Given the description of an element on the screen output the (x, y) to click on. 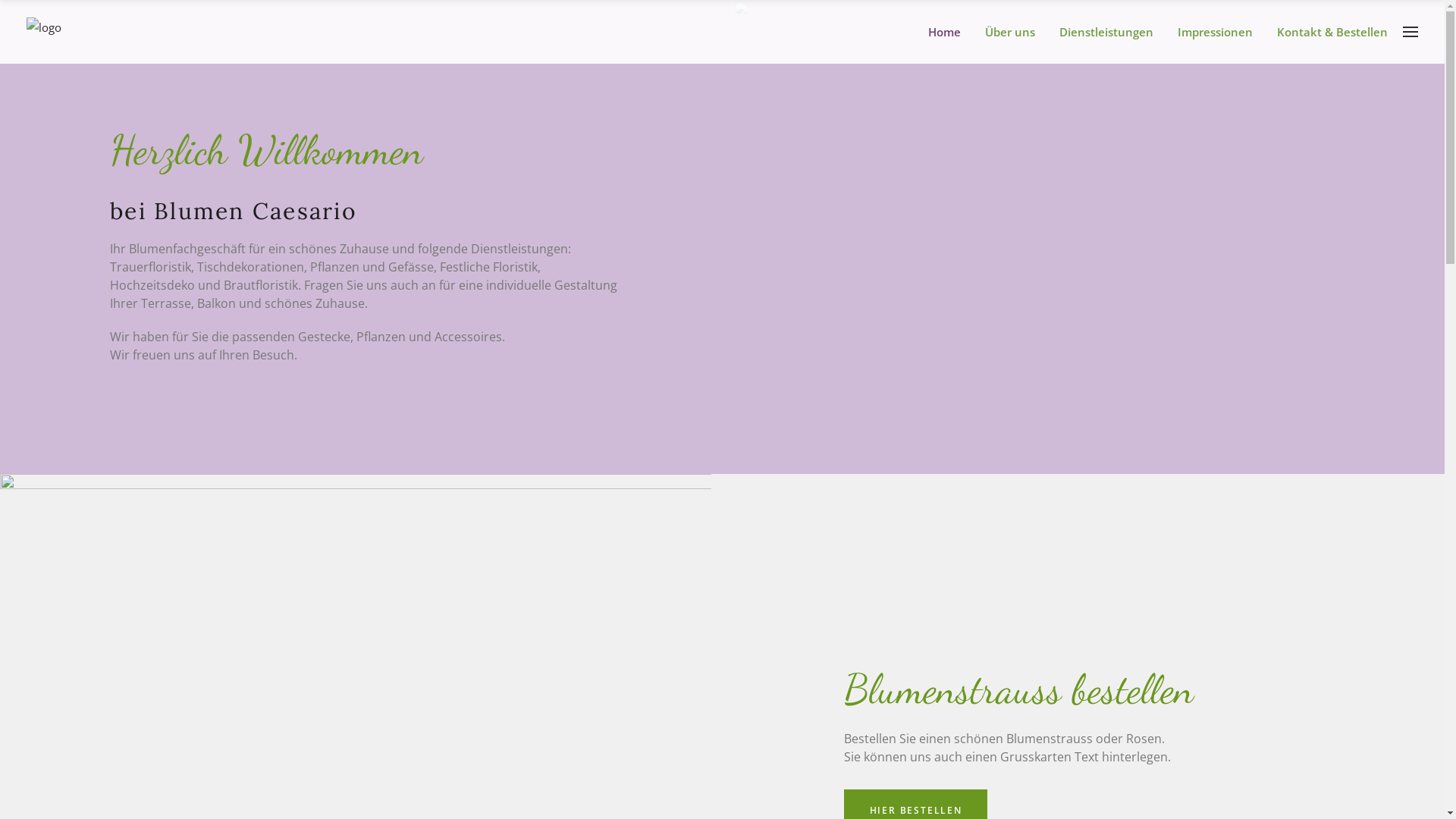
Impressionen Element type: text (1220, 31)
Kontakt & Bestellen Element type: text (1337, 31)
Home Element type: text (950, 31)
Dienstleistungen Element type: text (1112, 31)
